Given the description of an element on the screen output the (x, y) to click on. 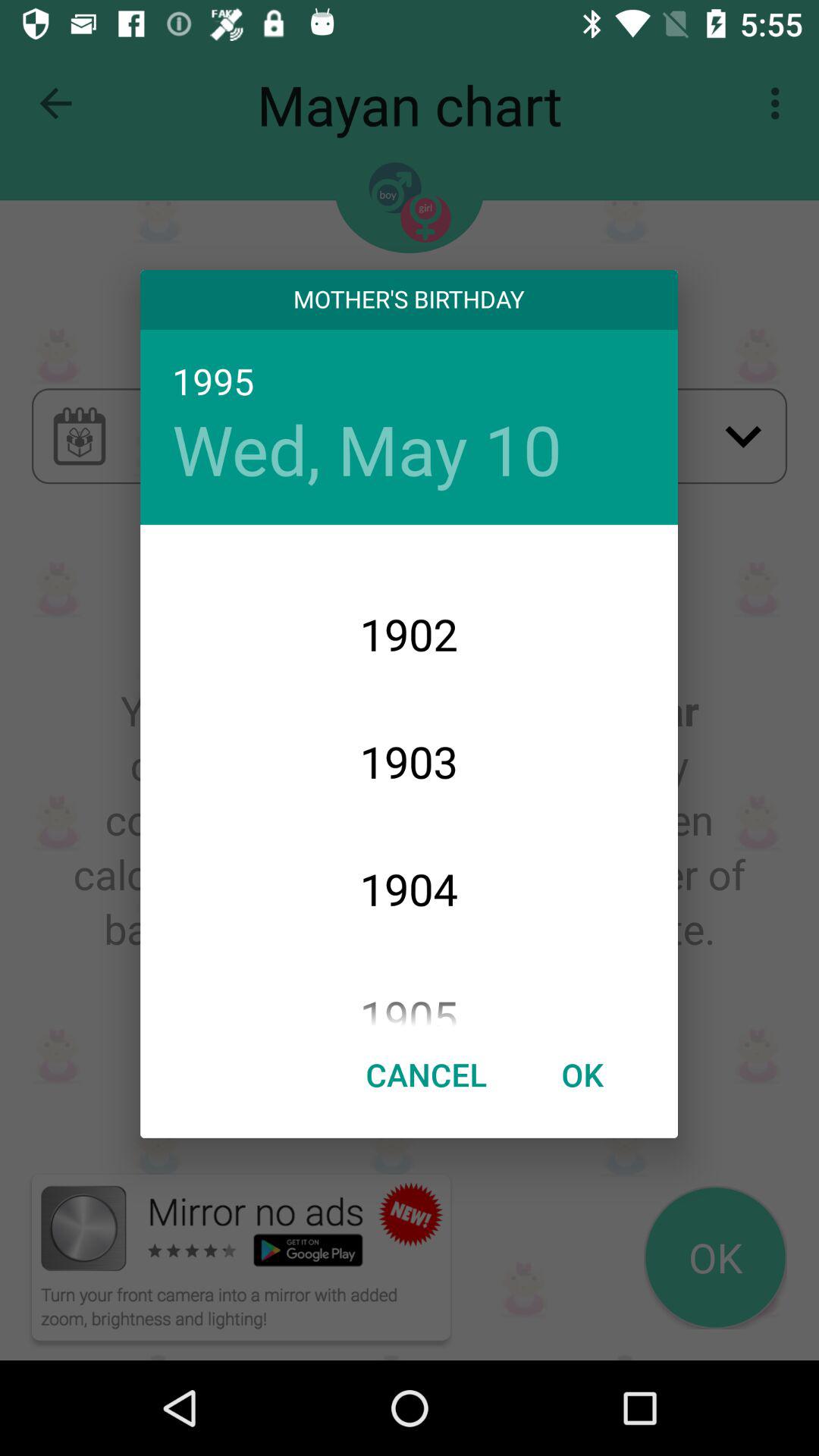
scroll until 1995 item (409, 382)
